Given the description of an element on the screen output the (x, y) to click on. 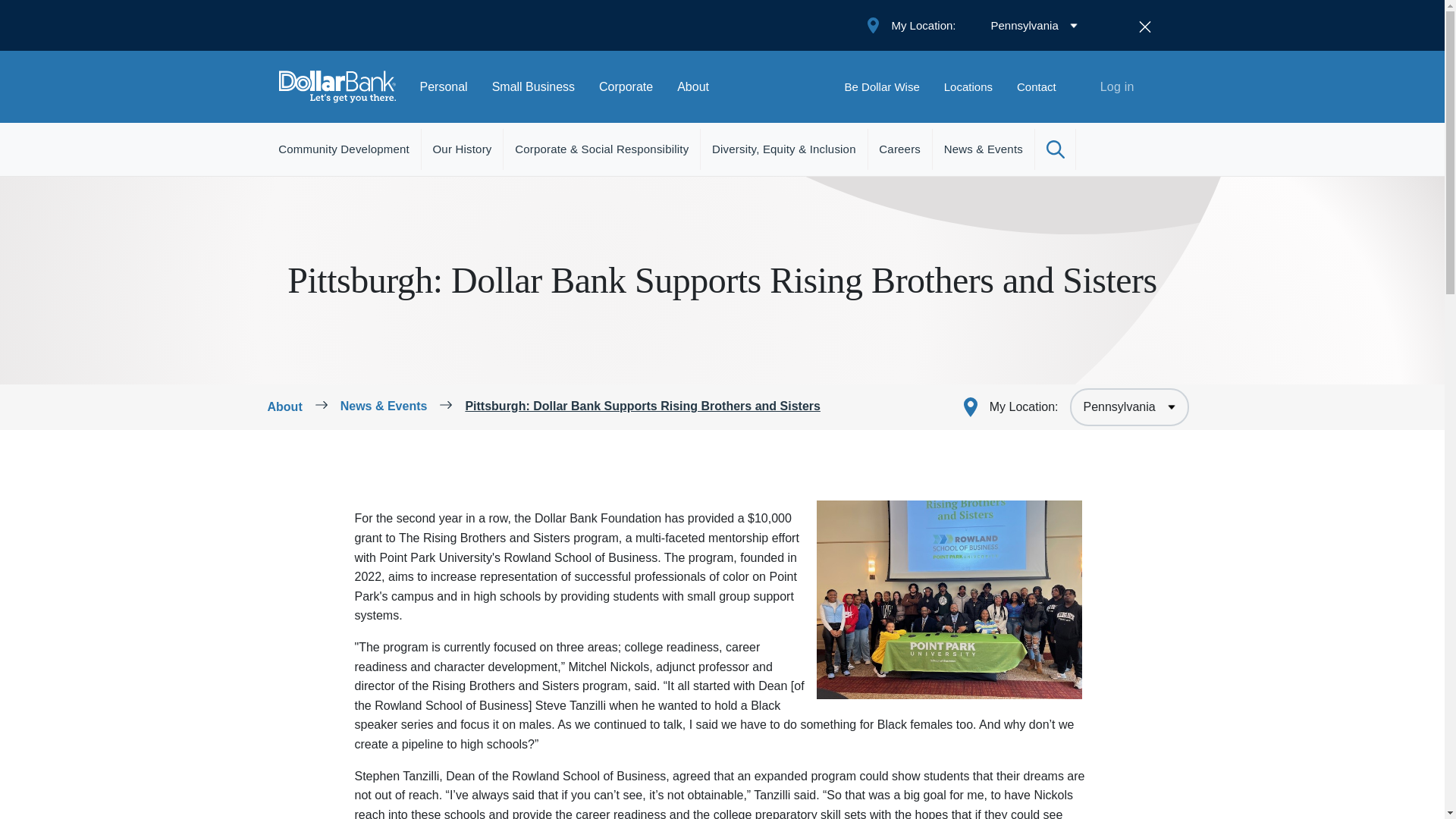
Dollar-Bank-supports-Rising-Brothers-and-Sisters.jpg (948, 599)
